Given the description of an element on the screen output the (x, y) to click on. 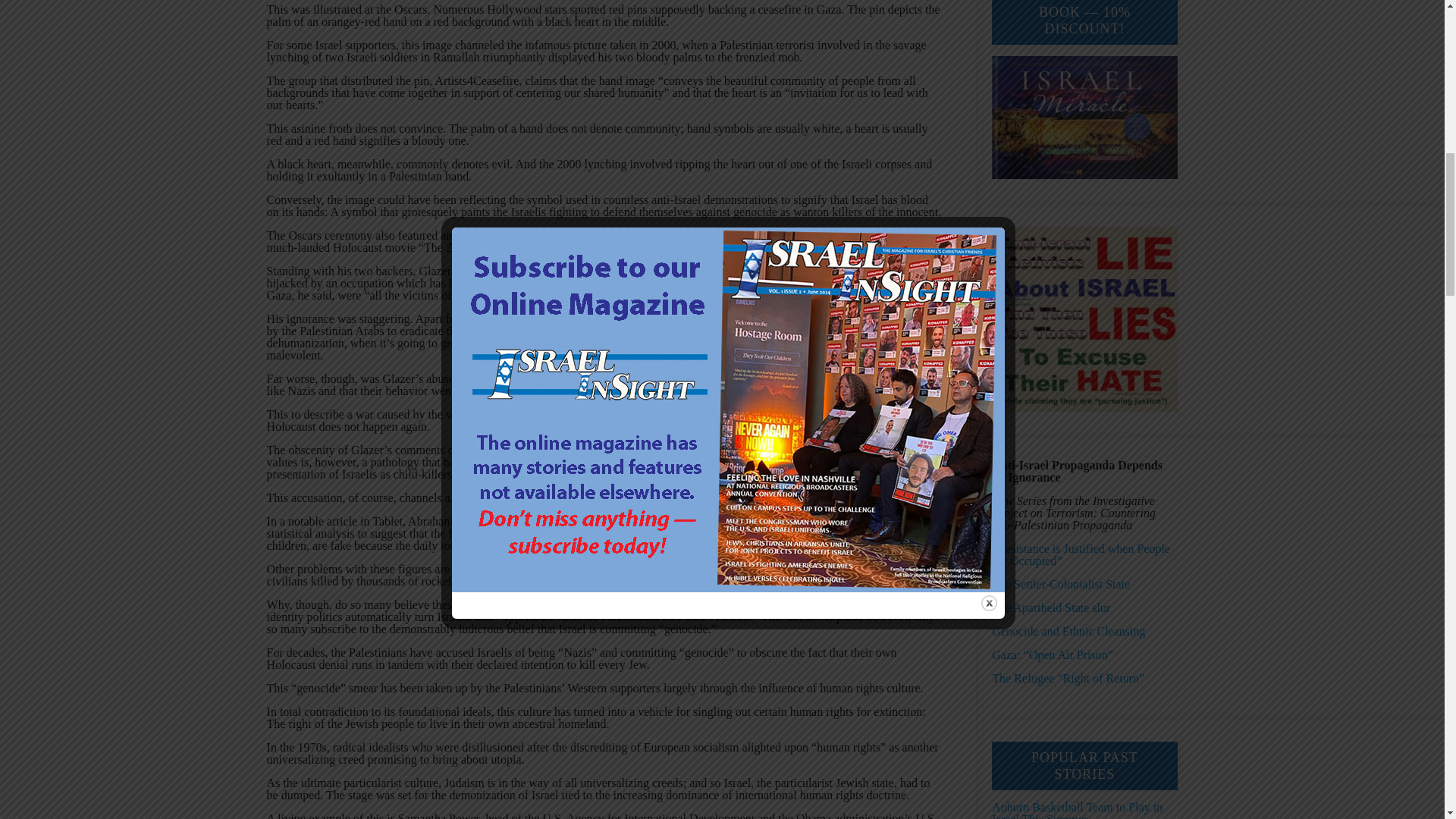
The Apartheid State slur (1050, 607)
Genocide and Ethnic Cleansing (1067, 631)
The Settler-Colonialist State (1060, 584)
